Given the description of an element on the screen output the (x, y) to click on. 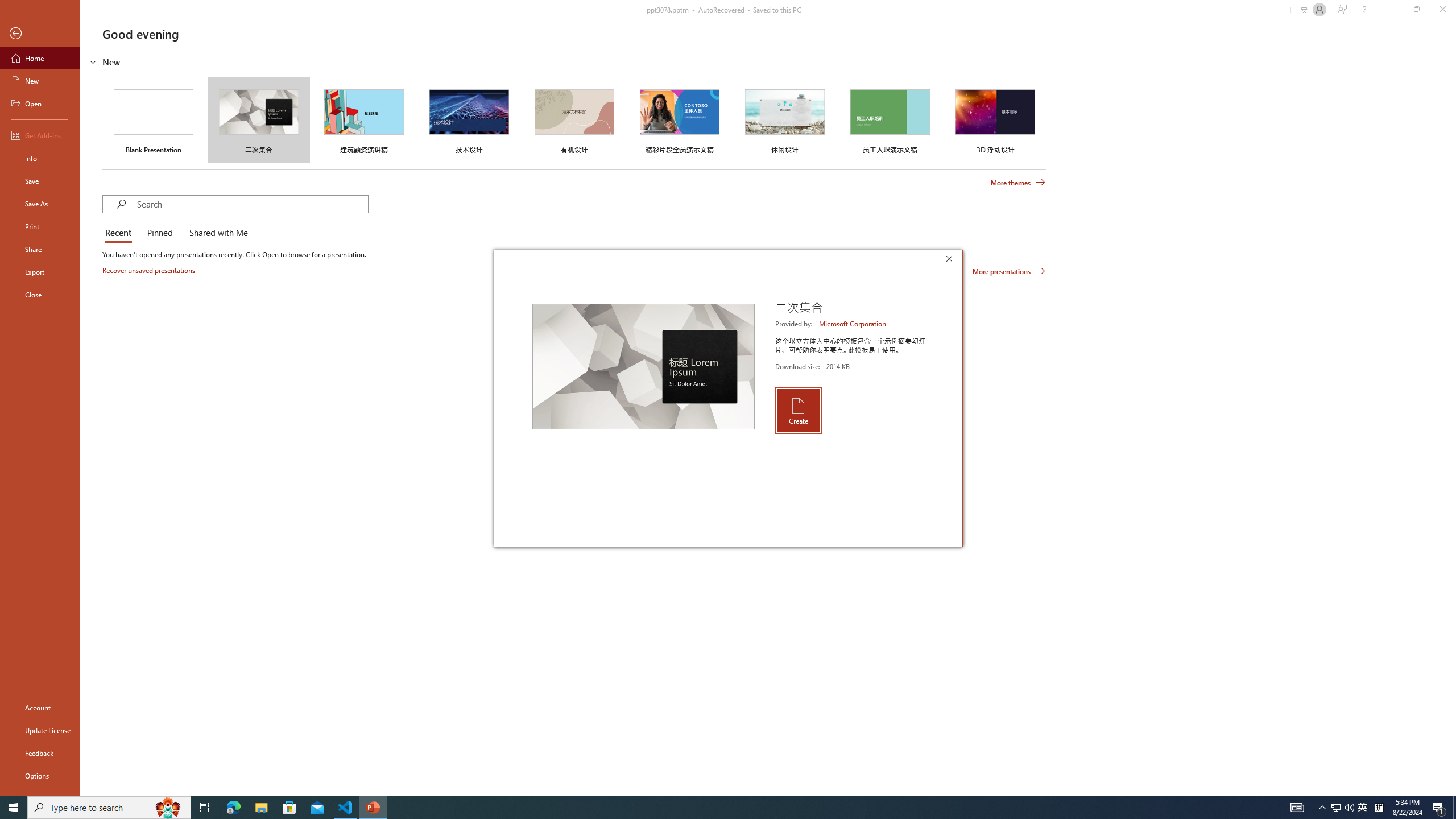
More presentations (1008, 270)
Back (40, 33)
Info (40, 157)
Hide or show region (92, 61)
